Given the description of an element on the screen output the (x, y) to click on. 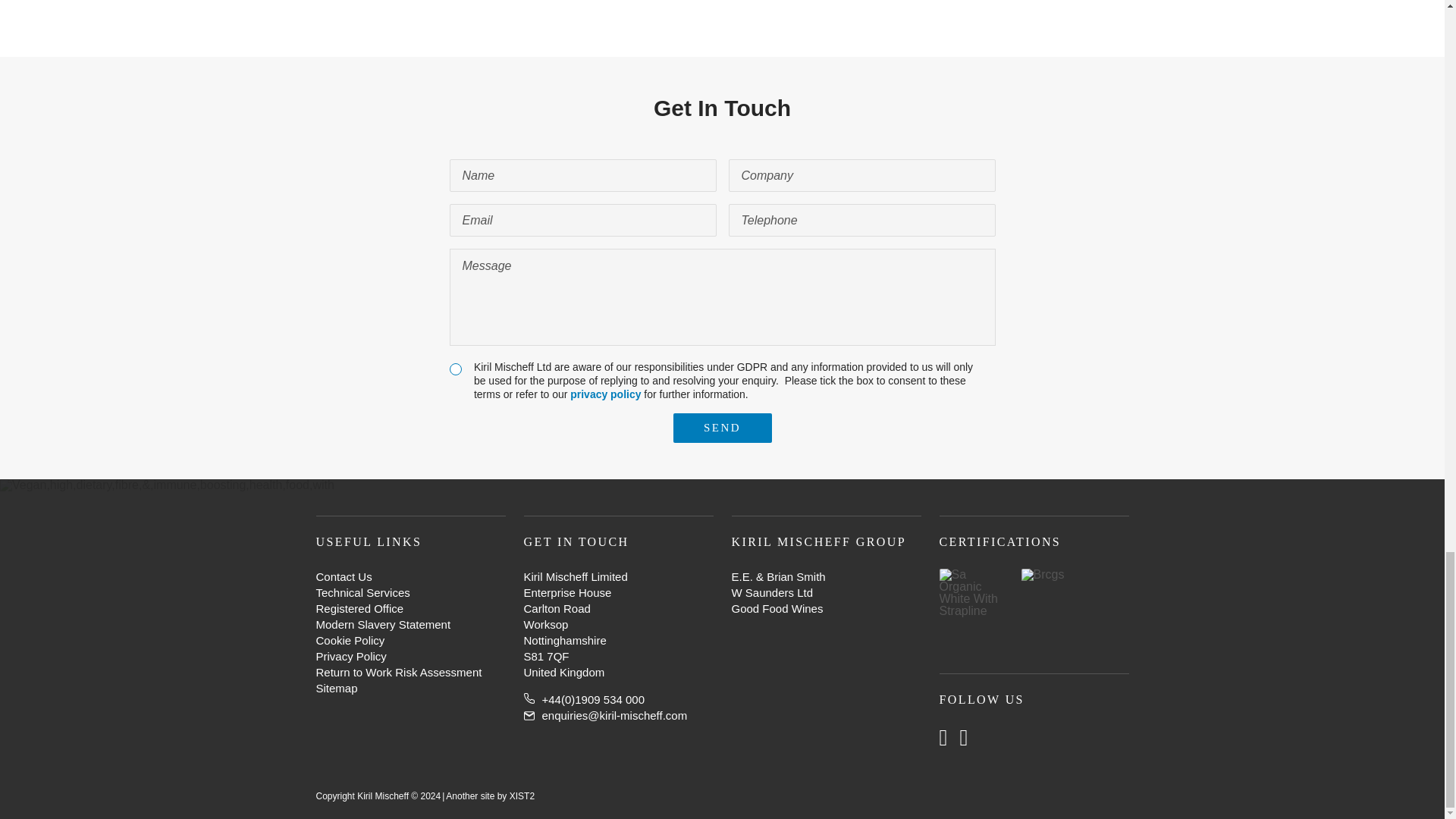
Send (721, 428)
1 (454, 369)
